Given the description of an element on the screen output the (x, y) to click on. 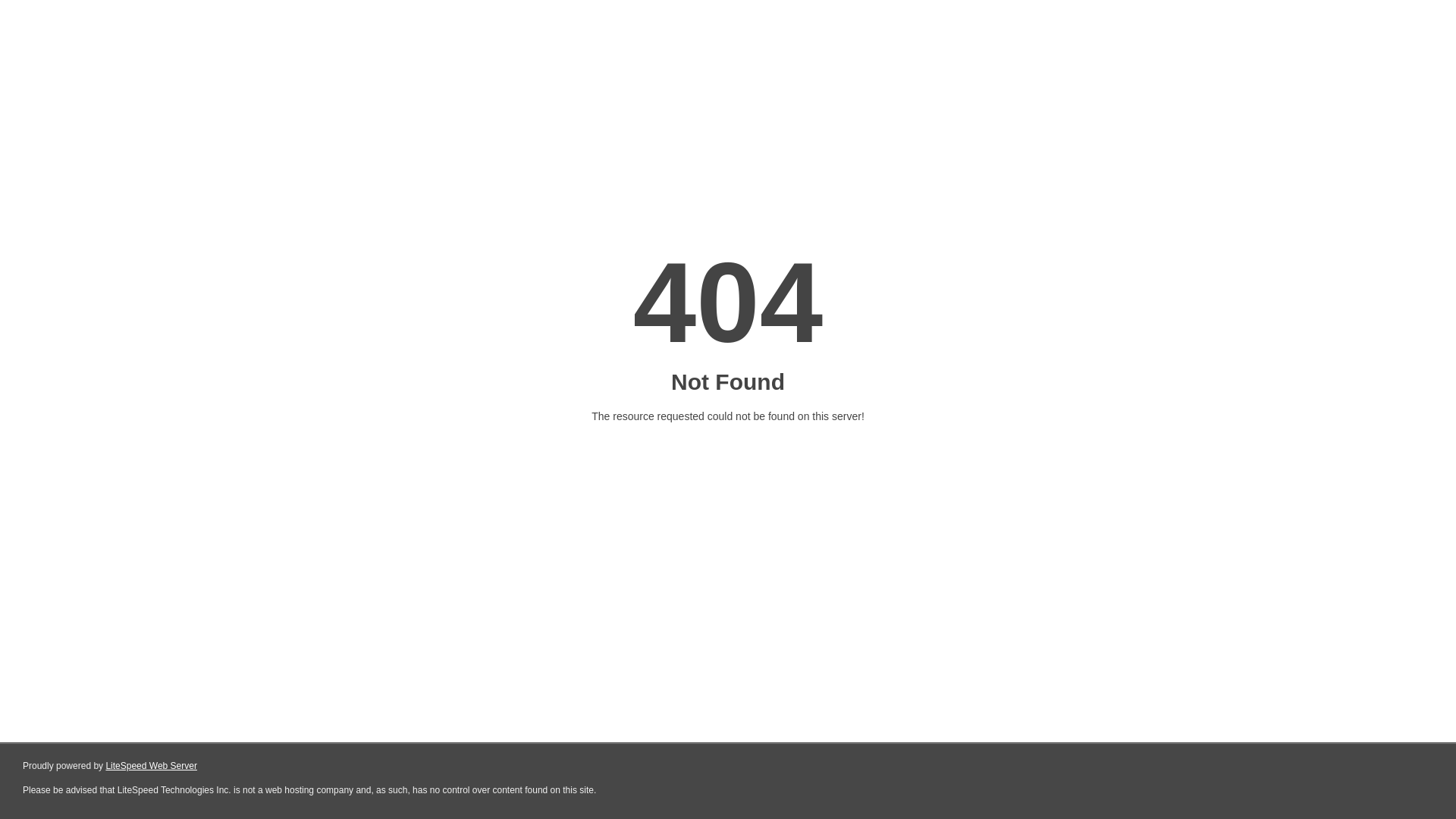
LiteSpeed Web Server Element type: text (151, 765)
